Given the description of an element on the screen output the (x, y) to click on. 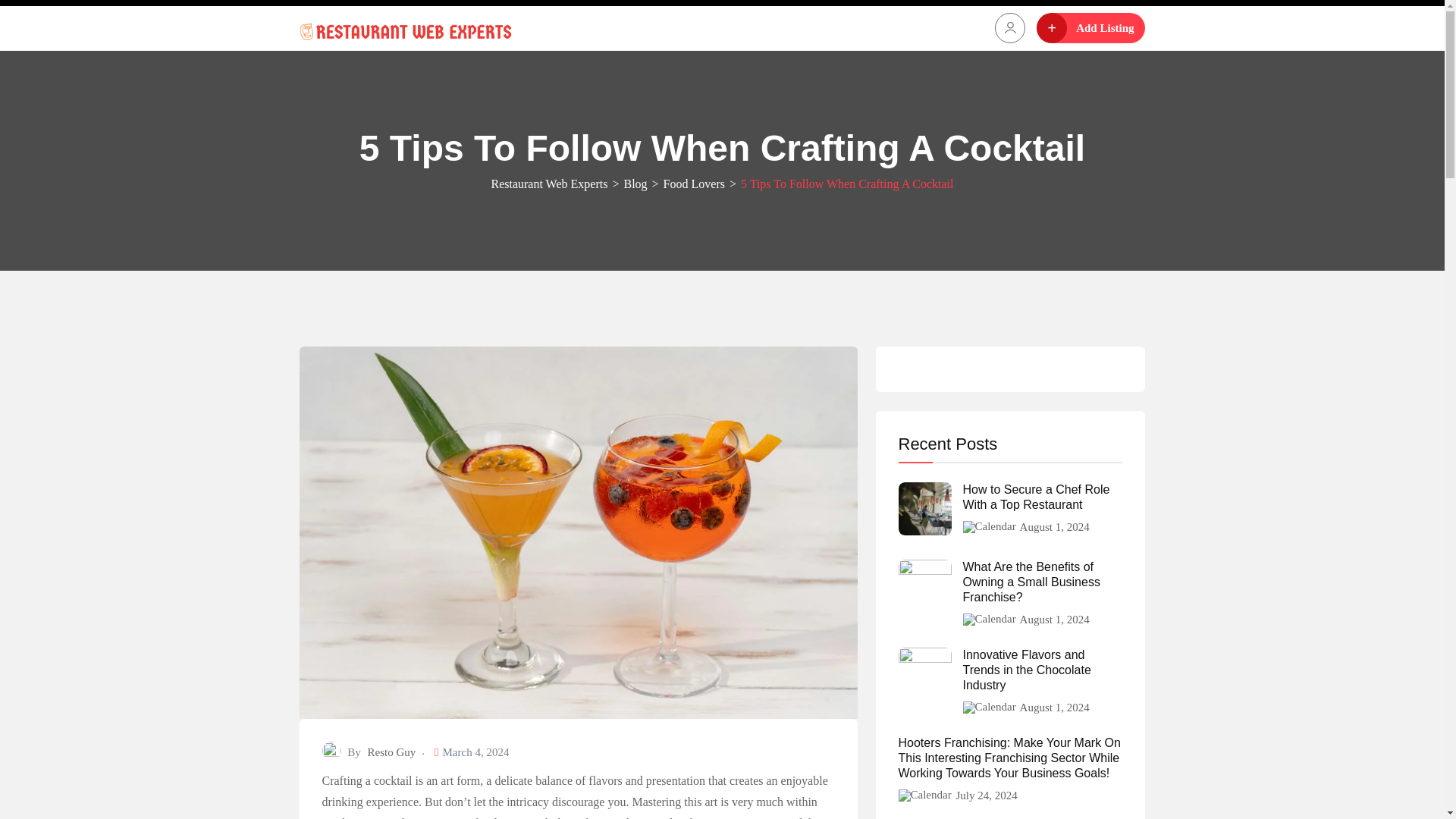
What Are the Benefits of Owning a Small Business Franchise? (1042, 582)
Go to the Food Lovers Category archives. (694, 183)
Restaurant Web Experts (548, 183)
Go to Restaurant Web Experts. (548, 183)
Add Listing (1090, 28)
Innovative Flavors and Trends in the Chocolate Industry (1042, 669)
How to Secure a Chef Role With a Top Restaurant (1042, 497)
Blog (634, 183)
Resto Guy (392, 752)
Go to Blog. (634, 183)
Food Lovers (694, 183)
